Given the description of an element on the screen output the (x, y) to click on. 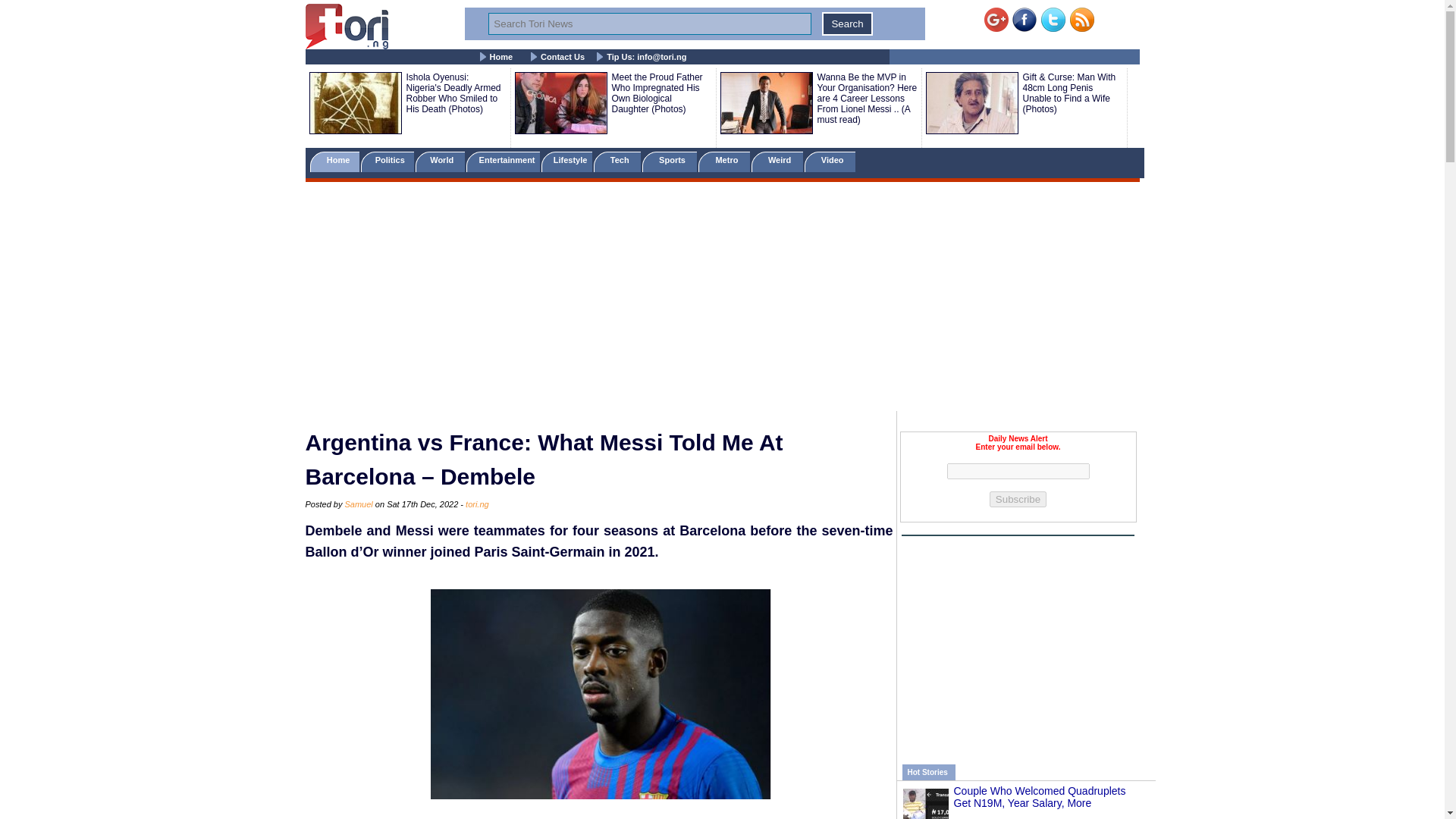
Advertisement (1017, 642)
Search (847, 24)
    Video      (830, 161)
   Politics     (387, 161)
Search Tori News (648, 24)
  Lifestyle   (566, 161)
Couple Who Welcomed Quadruplets Get N19M, Year Salary, More (1039, 796)
    Sports      (669, 161)
Contact Us (562, 56)
  Entertainment   (501, 161)
    Tech      (617, 161)
Subscribe (1018, 498)
   World      (439, 161)
Search (847, 24)
